Given the description of an element on the screen output the (x, y) to click on. 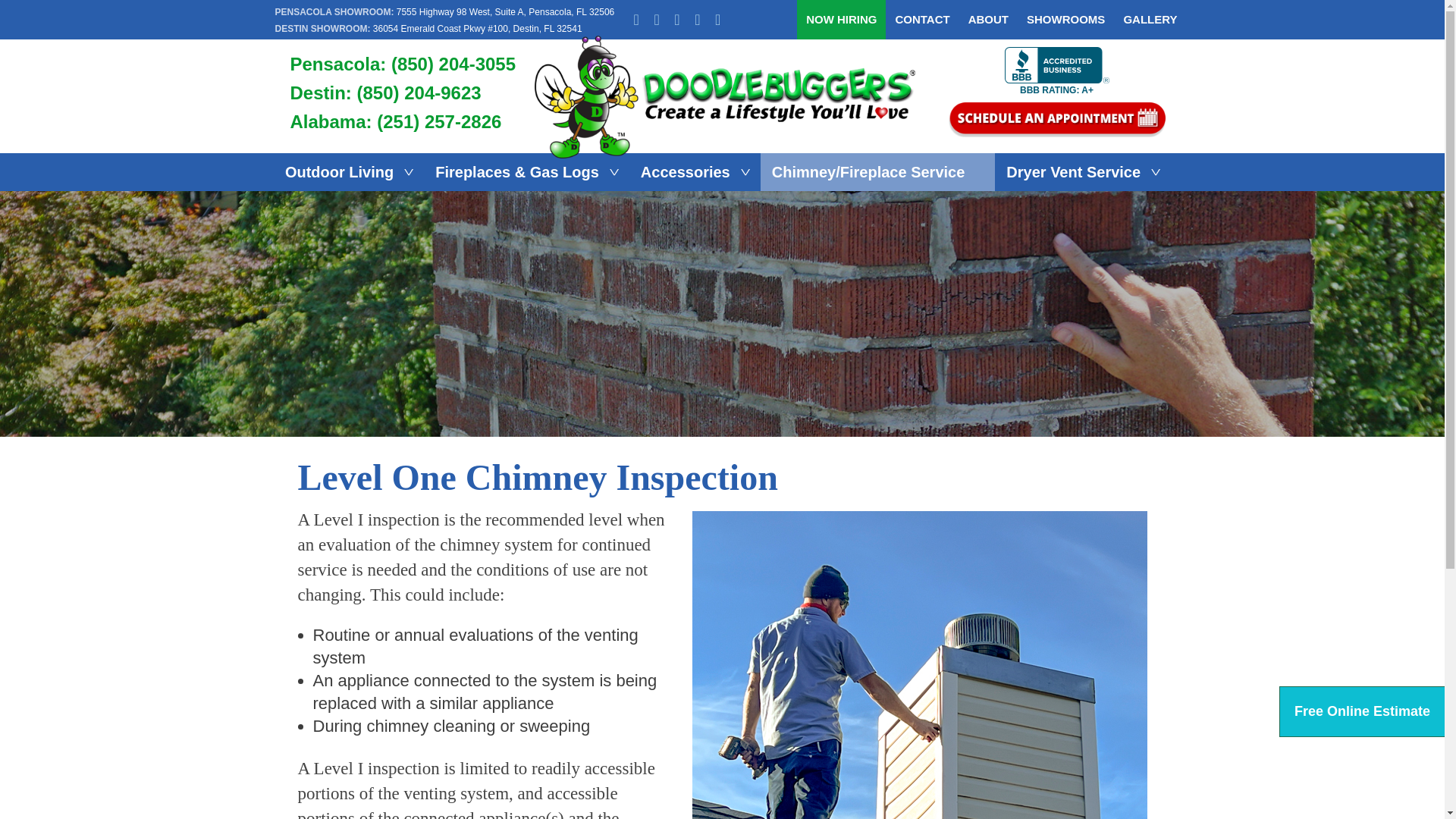
NOW HIRING (840, 19)
Doodlebuggers (724, 41)
Doodlebuggers (724, 97)
SHOWROOMS (1065, 19)
ABOUT (988, 19)
GALLERY (1144, 19)
CONTACT (921, 19)
7555 Highway 98 West, Suite A, Pensacola, FL 32506 (505, 10)
